Given the description of an element on the screen output the (x, y) to click on. 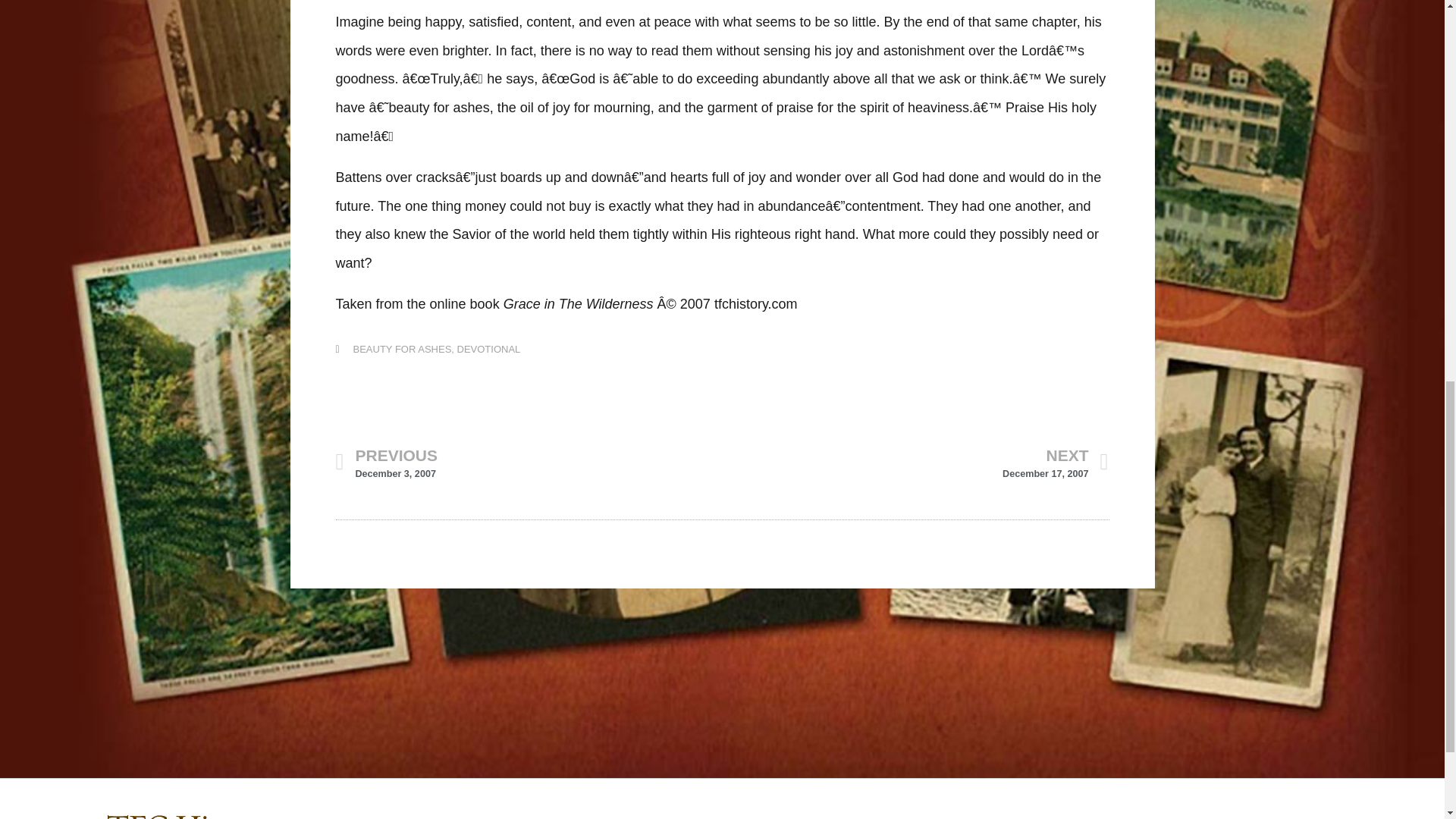
BEAUTY FOR ASHES (915, 462)
DEVOTIONAL (528, 462)
